Given the description of an element on the screen output the (x, y) to click on. 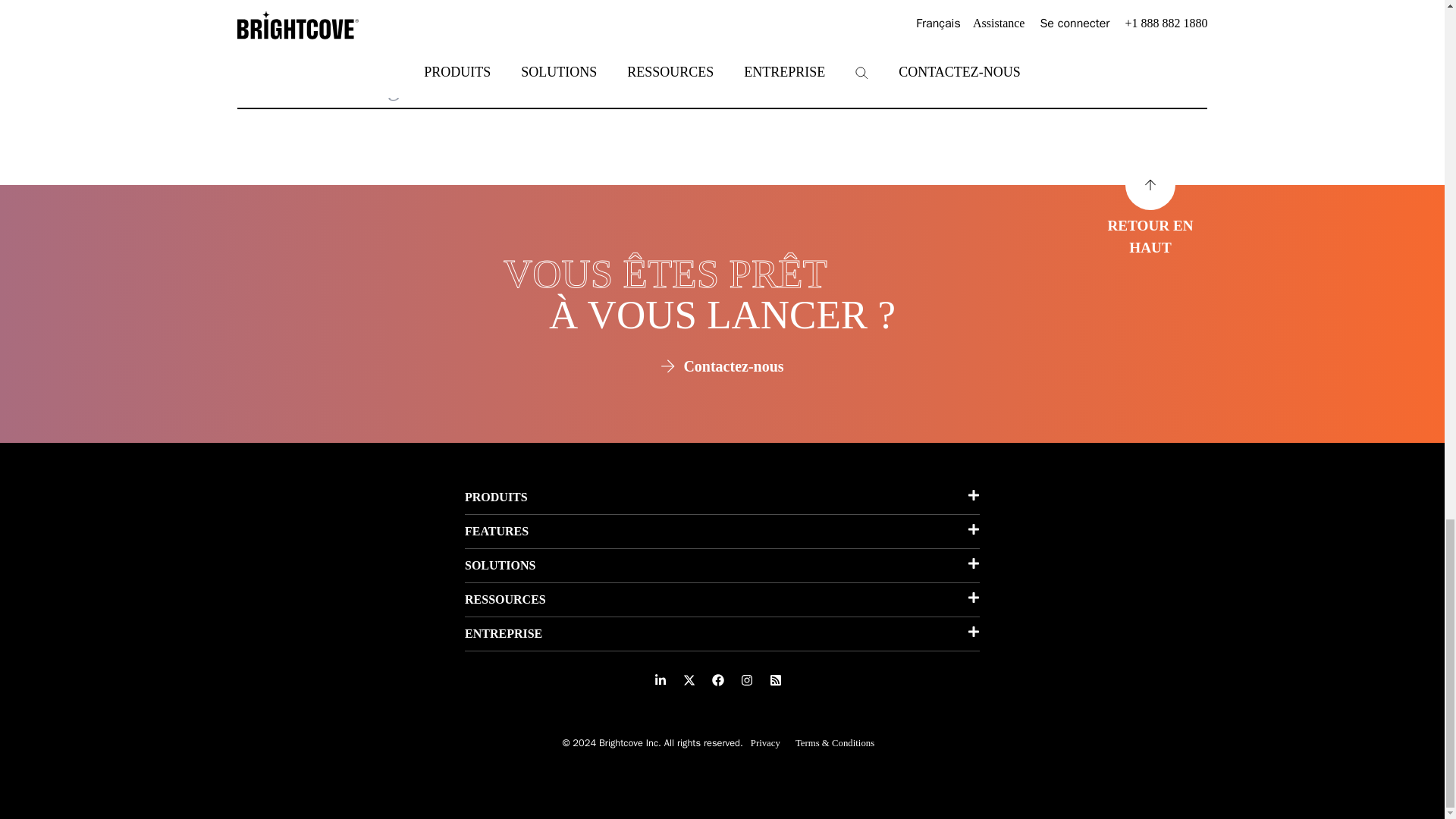
Contactez-nous (722, 365)
RECHERCHE (1127, 91)
PRODUITS (721, 497)
